Given the description of an element on the screen output the (x, y) to click on. 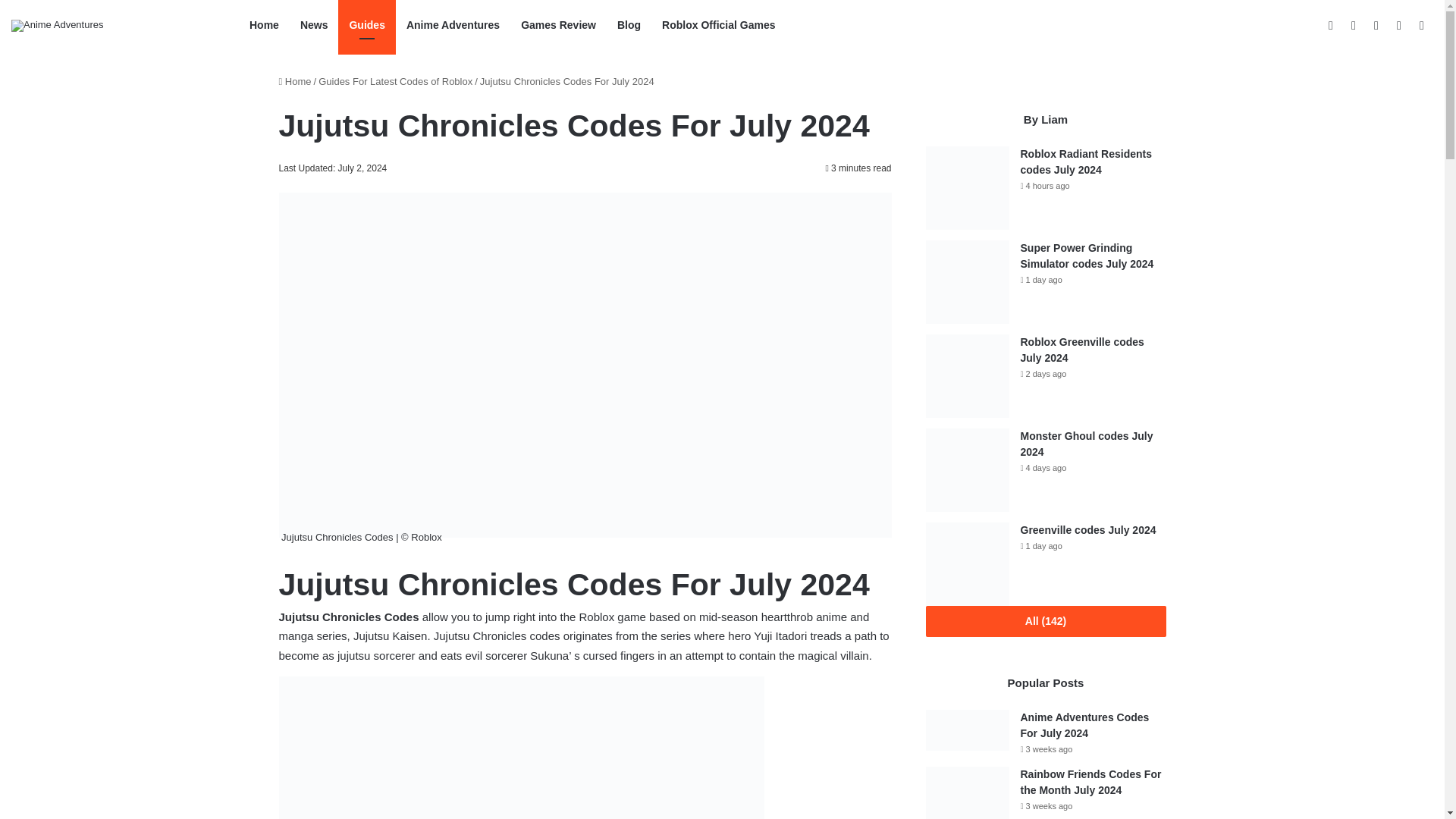
Guides For Latest Codes of Roblox (394, 81)
Games Review (559, 25)
YouTube (1376, 25)
Guides (365, 25)
Instagram (1398, 25)
Facebook (1330, 25)
Anime Adventures (57, 25)
X (1353, 25)
Home (263, 25)
Jujutsu Chronicles Codes For July 2024 (521, 747)
Home (295, 81)
Switch skin (1421, 25)
Blog (628, 25)
News (314, 25)
